Given the description of an element on the screen output the (x, y) to click on. 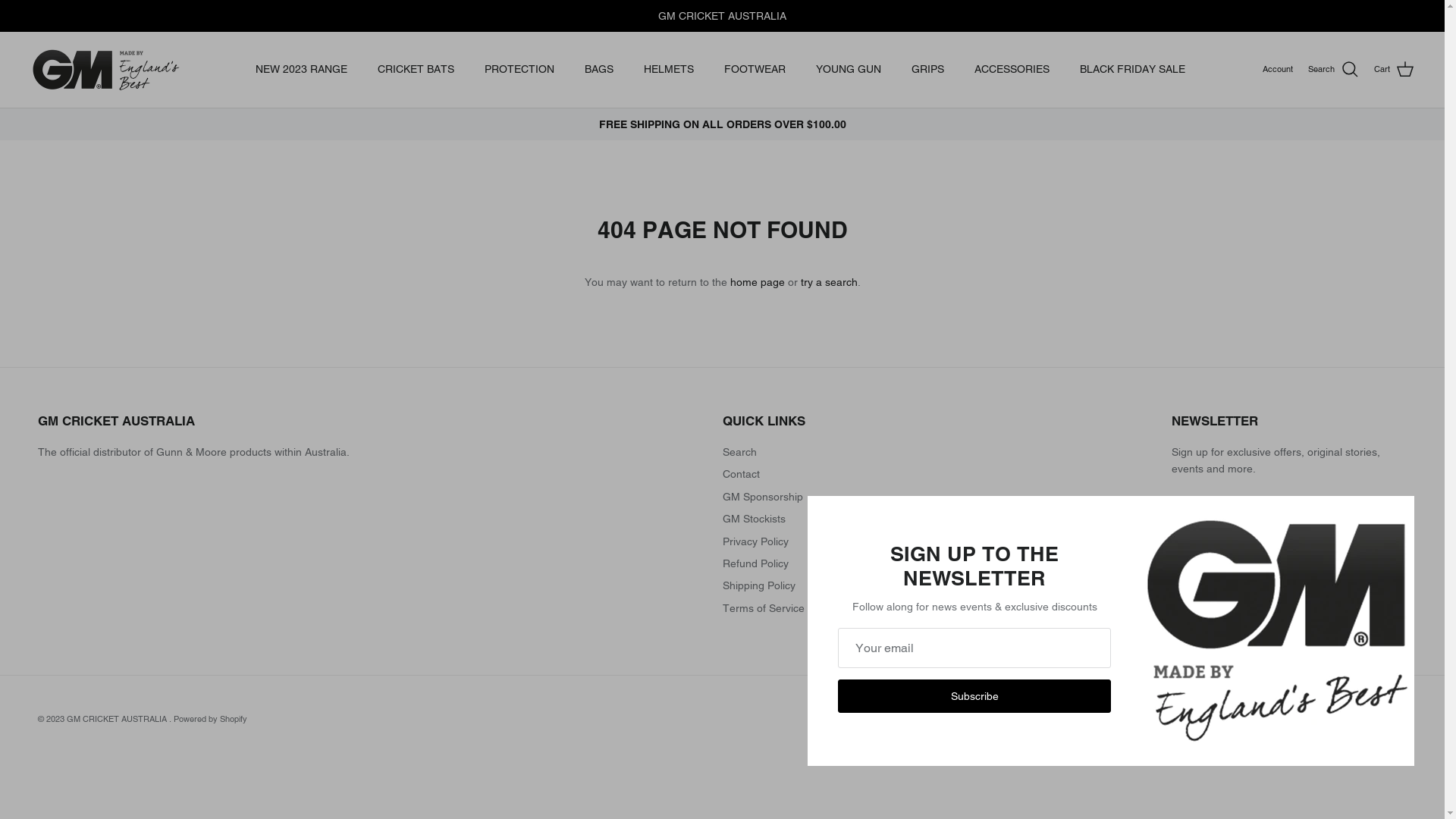
HELMETS Element type: text (668, 69)
Contact Element type: text (740, 473)
NEW 2023 RANGE Element type: text (300, 69)
GRIPS Element type: text (927, 69)
GM Stockists Element type: text (753, 518)
GM CRICKET AUSTRALIA  Element type: hover (106, 69)
Account Element type: text (1277, 69)
ACCESSORIES Element type: text (1011, 69)
CRICKET BATS Element type: text (415, 69)
Subscribe Element type: text (973, 695)
Powered by Shopify Element type: text (210, 718)
Privacy Policy Element type: text (755, 541)
PROTECTION Element type: text (518, 69)
Search Element type: text (739, 451)
GM CRICKET AUSTRALIA Element type: text (117, 718)
Cart Element type: text (1394, 69)
FOOTWEAR Element type: text (754, 69)
Shipping Policy Element type: text (758, 585)
Terms of Service Element type: text (763, 608)
try a search Element type: text (828, 282)
home page Element type: text (756, 282)
Refund Policy Element type: text (755, 563)
Search Element type: text (1333, 69)
BLACK FRIDAY SALE Element type: text (1132, 69)
Sign up Element type: text (1209, 562)
GM Sponsorship Element type: text (762, 496)
YOUNG GUN Element type: text (848, 69)
BAGS Element type: text (599, 69)
